Given the description of an element on the screen output the (x, y) to click on. 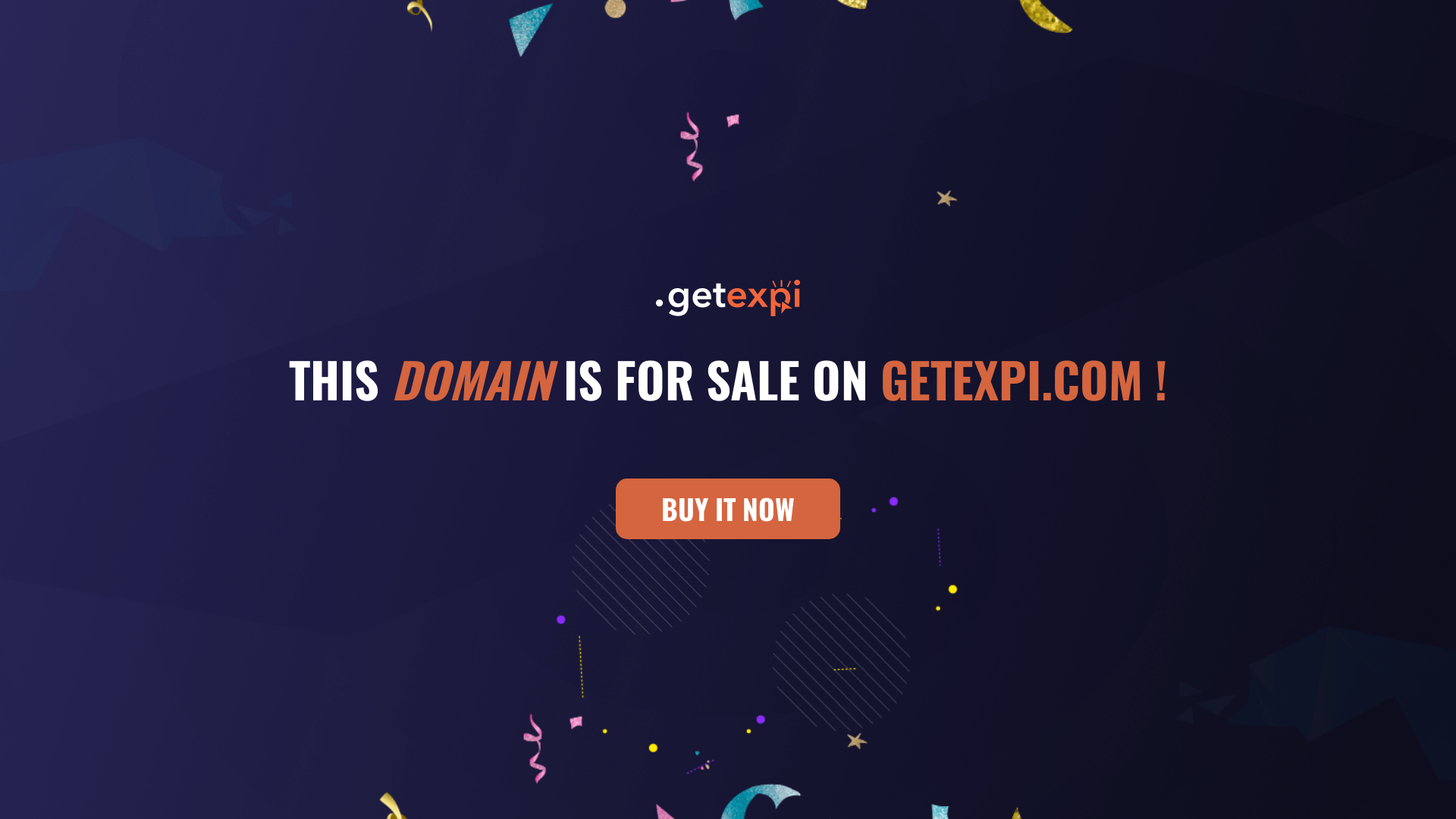
GETEXPI.COM ! Element type: text (1023, 378)
BUY IT NOW Element type: text (727, 515)
BUY IT NOW Element type: text (727, 508)
